Given the description of an element on the screen output the (x, y) to click on. 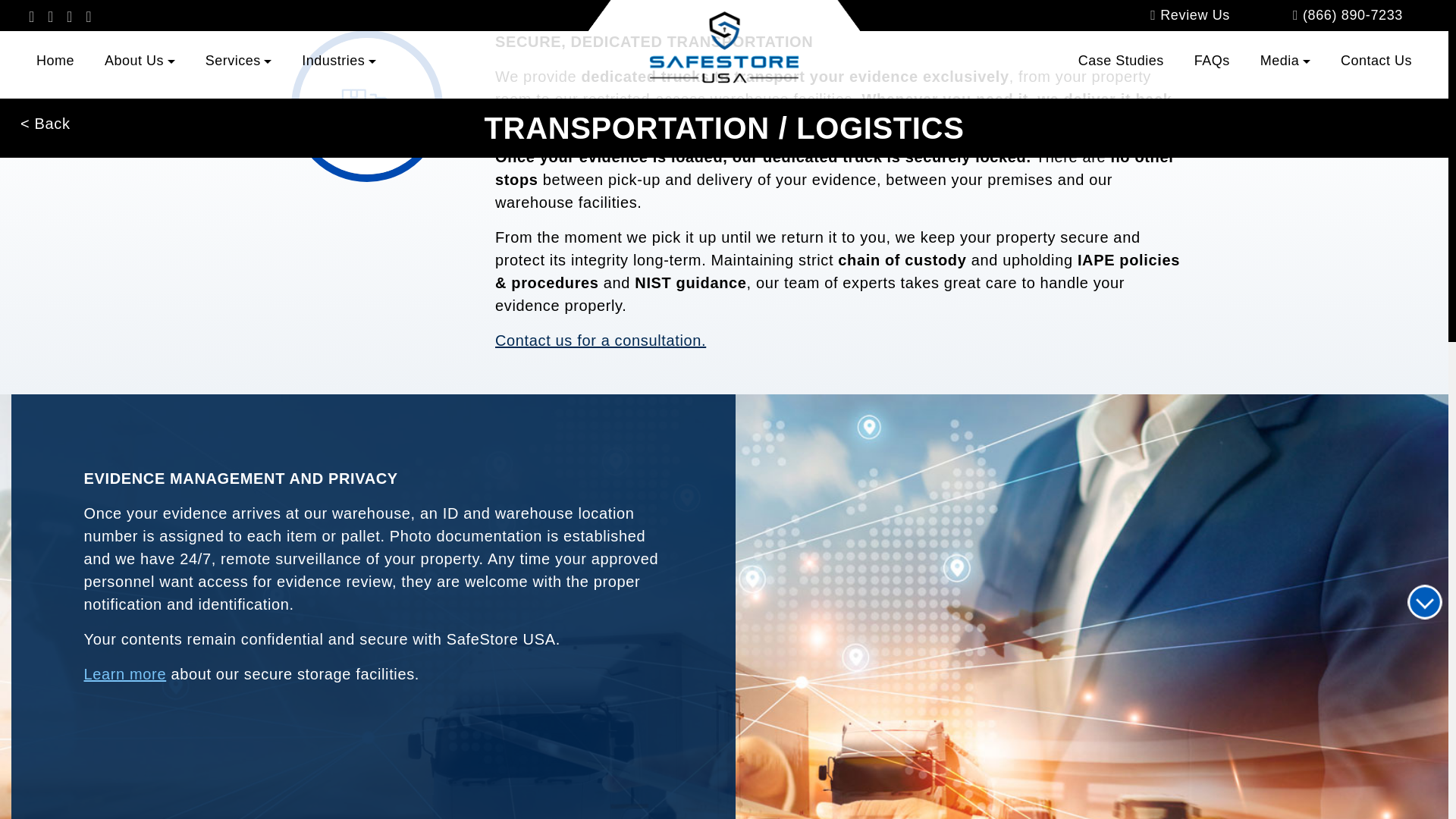
logo (723, 49)
